Given the description of an element on the screen output the (x, y) to click on. 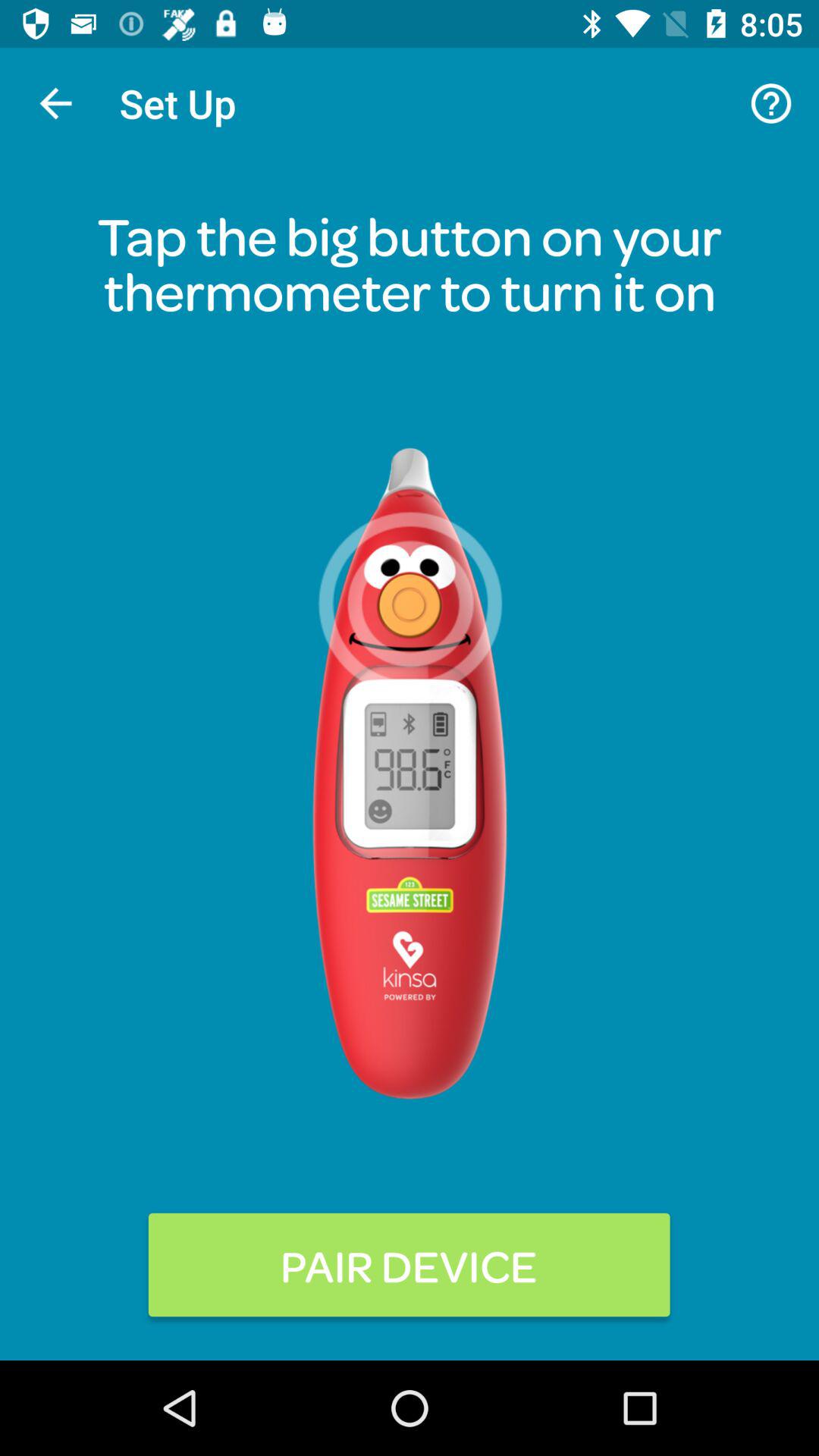
turn on icon next to the set up icon (771, 103)
